Given the description of an element on the screen output the (x, y) to click on. 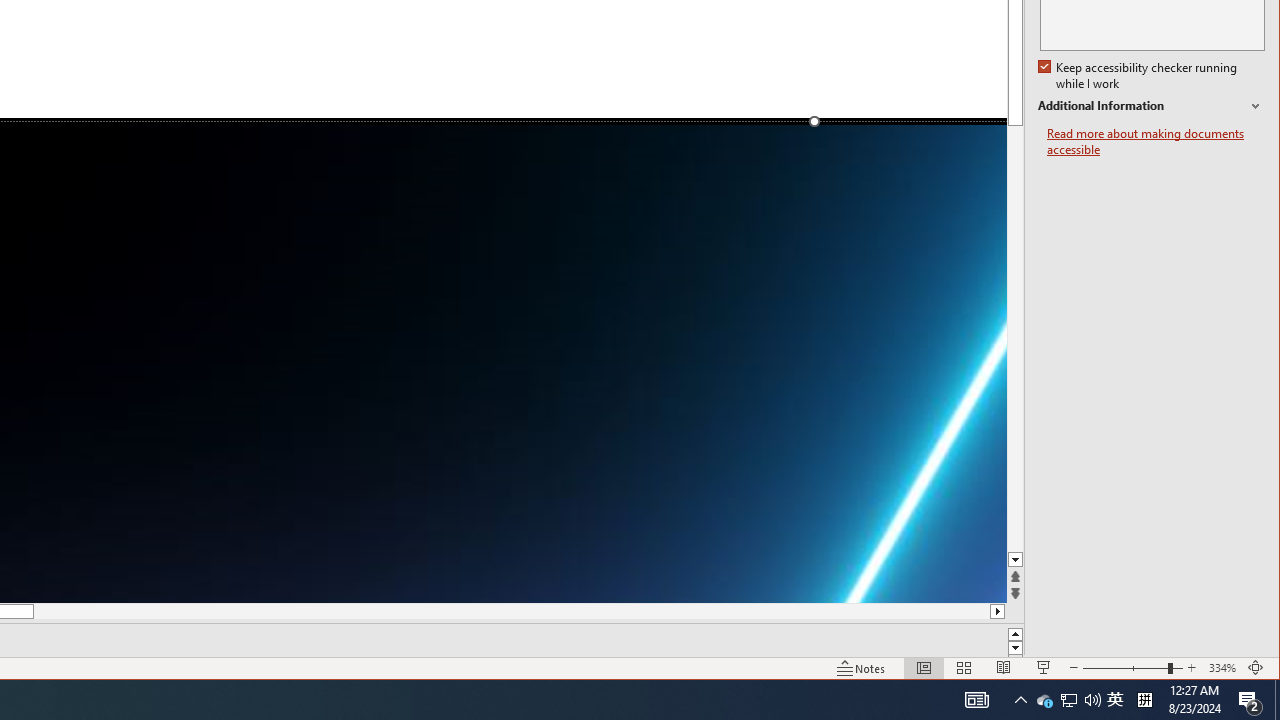
Zoom 334% (1222, 668)
